Given the description of an element on the screen output the (x, y) to click on. 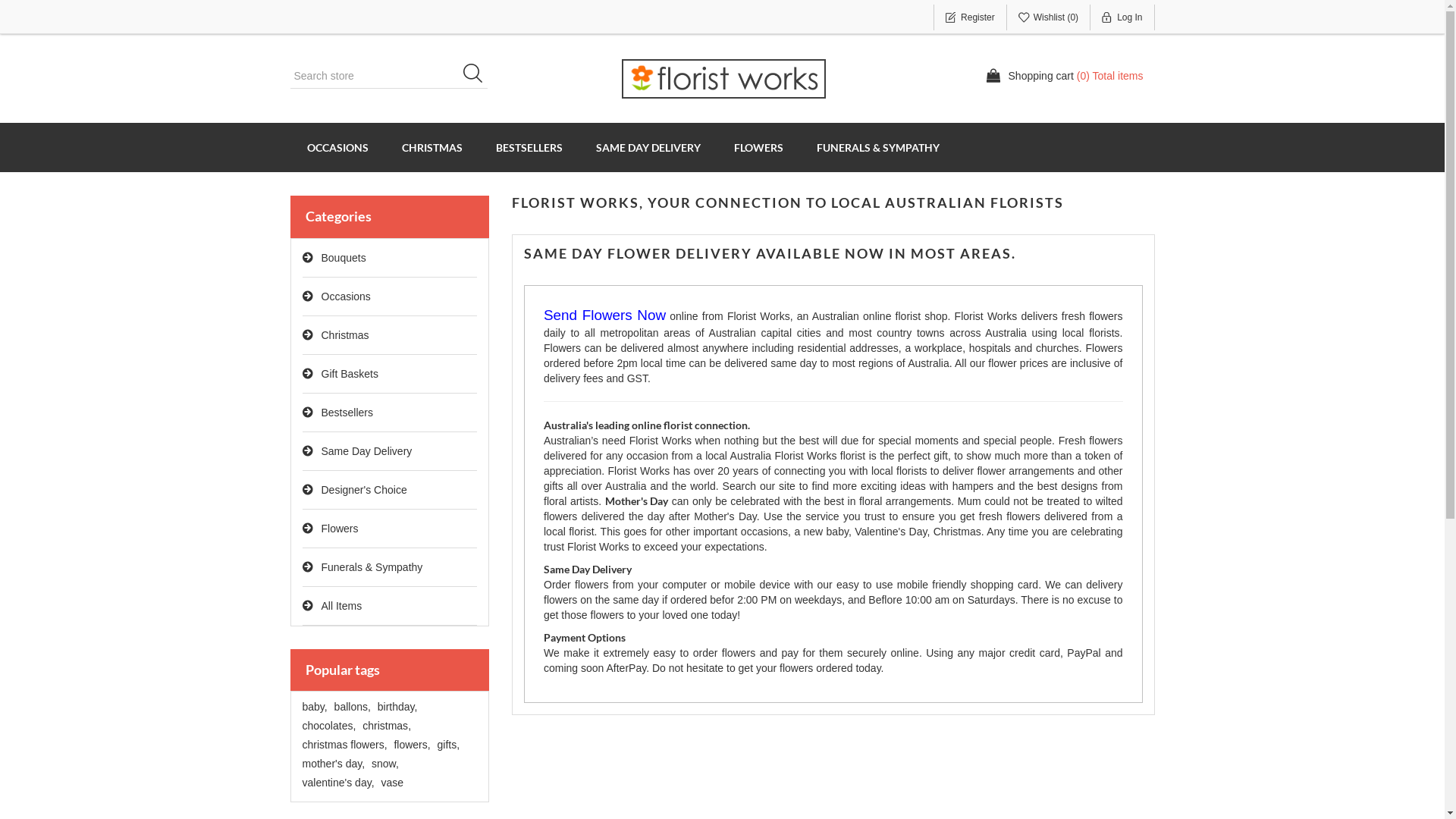
birthday, Element type: text (397, 706)
Shopping cart (0) Total items Element type: text (1064, 75)
Christmas Element type: text (388, 335)
Designer's Choice Element type: text (388, 489)
OCCASIONS Element type: text (336, 147)
baby, Element type: text (313, 706)
Bestsellers Element type: text (388, 412)
Register Element type: text (970, 17)
snow, Element type: text (384, 763)
christmas flowers, Element type: text (343, 744)
Funerals & Sympathy Element type: text (388, 567)
mother's day, Element type: text (332, 763)
BESTSELLERS Element type: text (529, 147)
Send Flowers Now Element type: text (604, 316)
ballons, Element type: text (352, 706)
Flowers Element type: text (388, 528)
Gift Baskets Element type: text (388, 373)
FUNERALS & SYMPATHY Element type: text (877, 147)
Occasions Element type: text (388, 296)
CHRISTMAS Element type: text (432, 147)
Same Day Delivery Element type: text (388, 451)
gifts, Element type: text (448, 744)
FLOWERS Element type: text (758, 147)
christmas, Element type: text (386, 725)
vase Element type: text (391, 782)
Log In Element type: text (1122, 17)
chocolates, Element type: text (328, 725)
All Items Element type: text (388, 605)
flowers, Element type: text (411, 744)
Bouquets Element type: text (388, 257)
valentine's day, Element type: text (337, 782)
SAME DAY DELIVERY Element type: text (648, 147)
Wishlist (0) Element type: text (1048, 17)
